Given the description of an element on the screen output the (x, y) to click on. 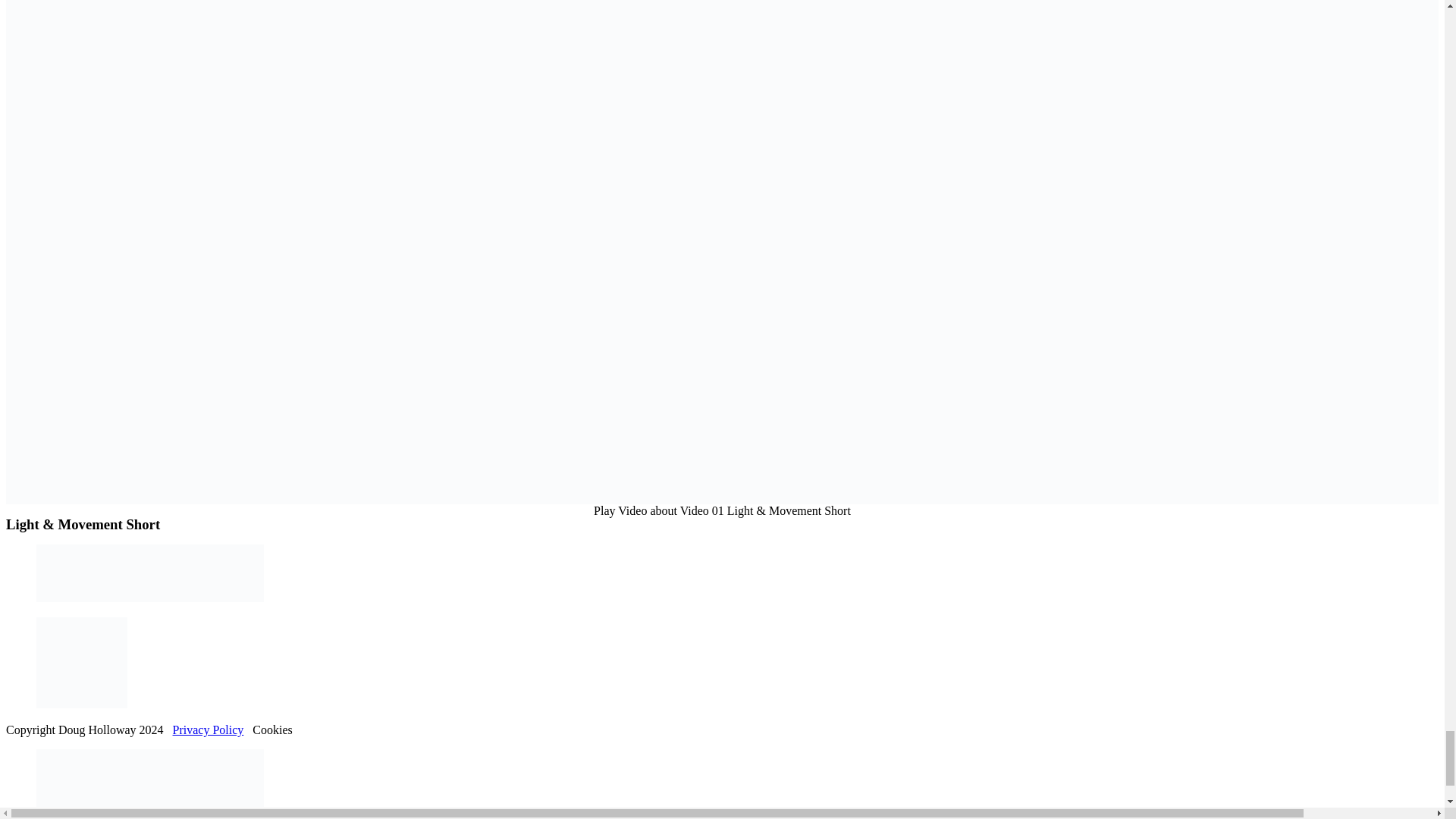
Privacy Policy (208, 729)
Cookies (271, 729)
